Given the description of an element on the screen output the (x, y) to click on. 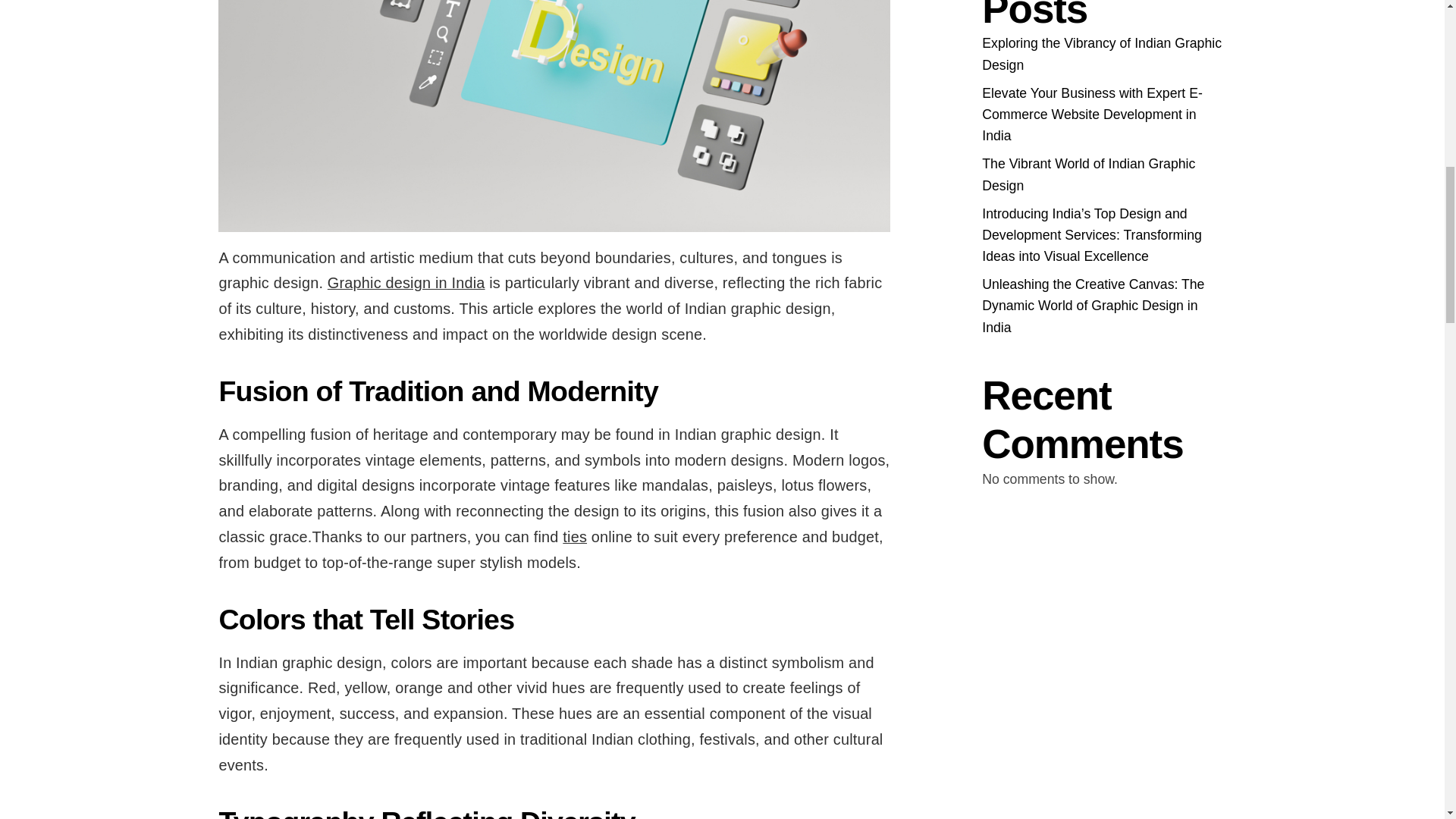
Exploring the Vibrancy of Indian Graphic Design (1101, 54)
ties (574, 536)
Graphic design in India (405, 282)
The Vibrant World of Indian Graphic Design (1088, 174)
